Given the description of an element on the screen output the (x, y) to click on. 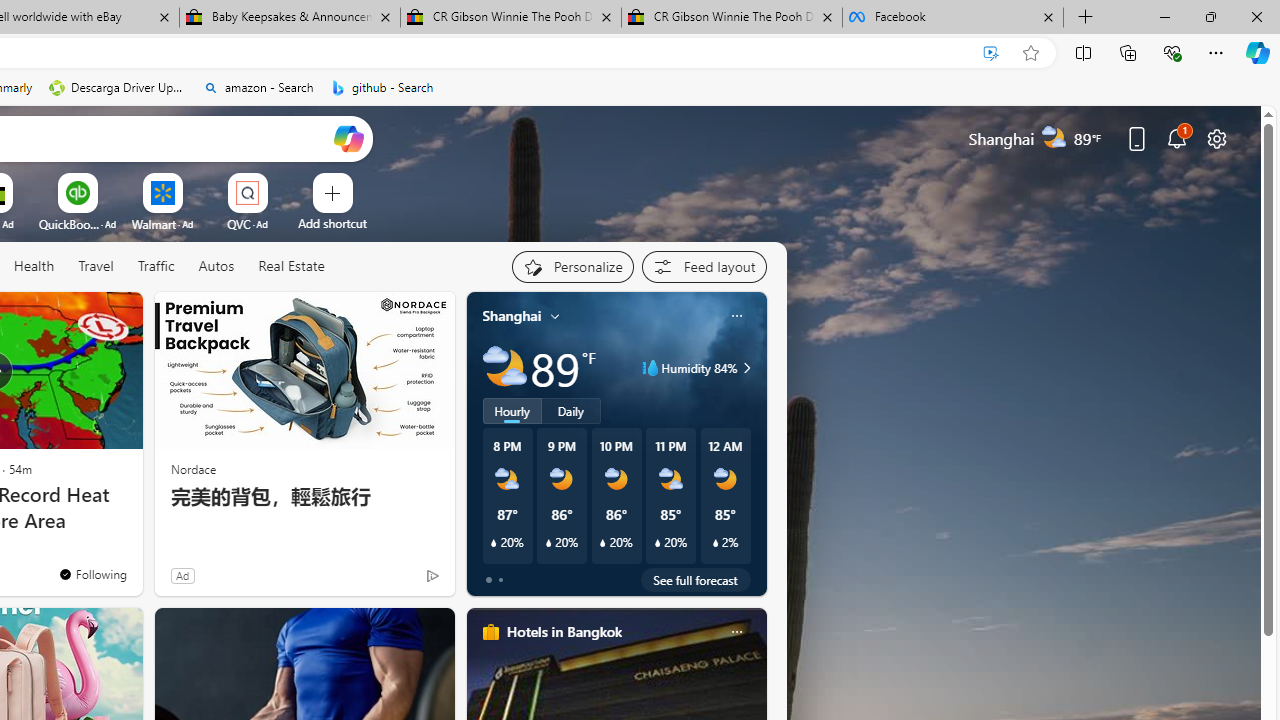
You're following The Weather Channel (92, 573)
Class: icon-img (736, 632)
Traffic (155, 267)
Hide this story (82, 315)
Autos (215, 265)
Health (34, 265)
Page settings (1216, 138)
